Given the description of an element on the screen output the (x, y) to click on. 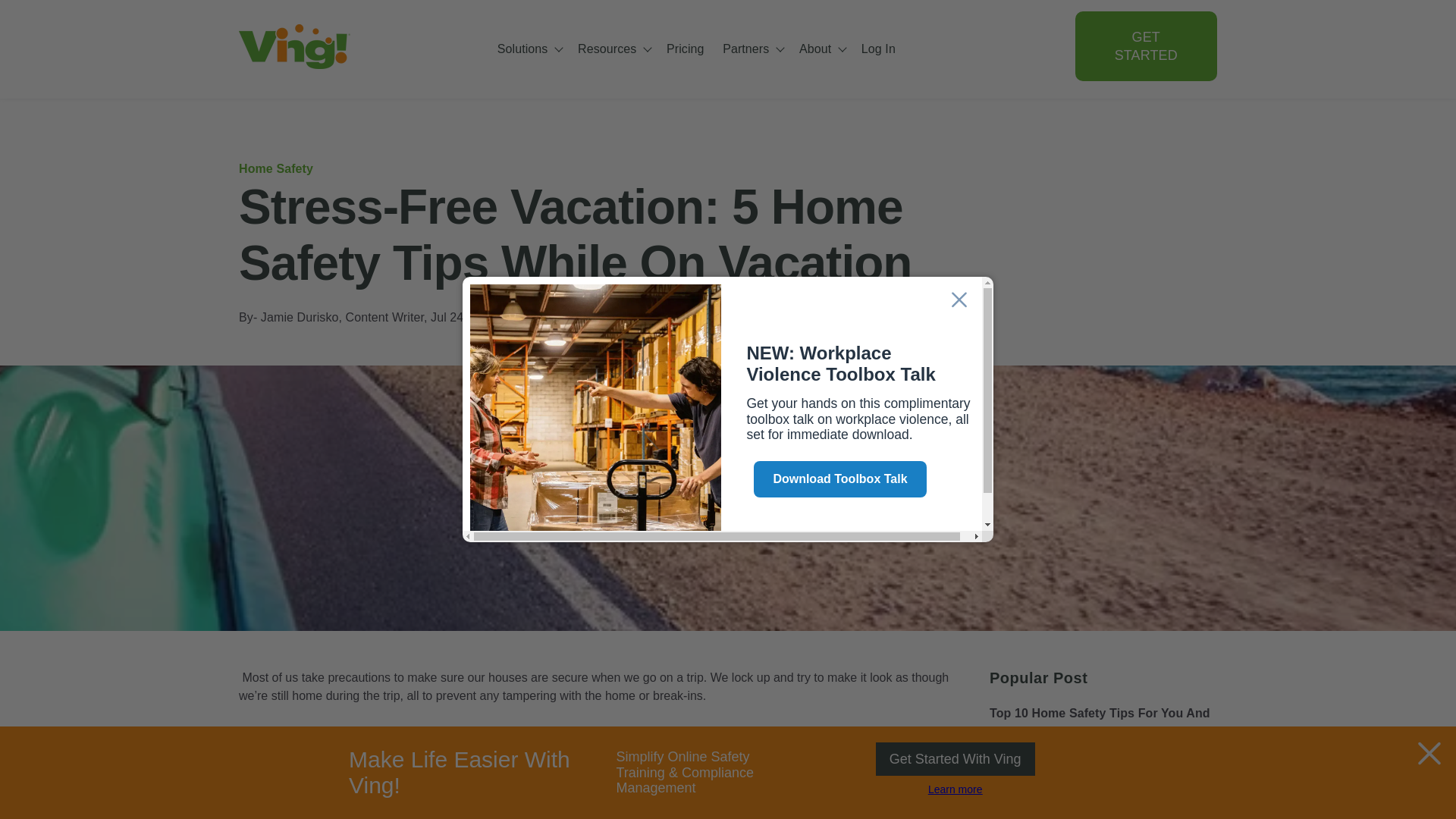
Resources (612, 48)
Show submenu for Solutions (559, 47)
Pricing (685, 48)
Show submenu for Resources (648, 47)
Show submenu for Partners (780, 47)
Partners (750, 48)
ving logo (294, 46)
Solutions (528, 48)
